Given the description of an element on the screen output the (x, y) to click on. 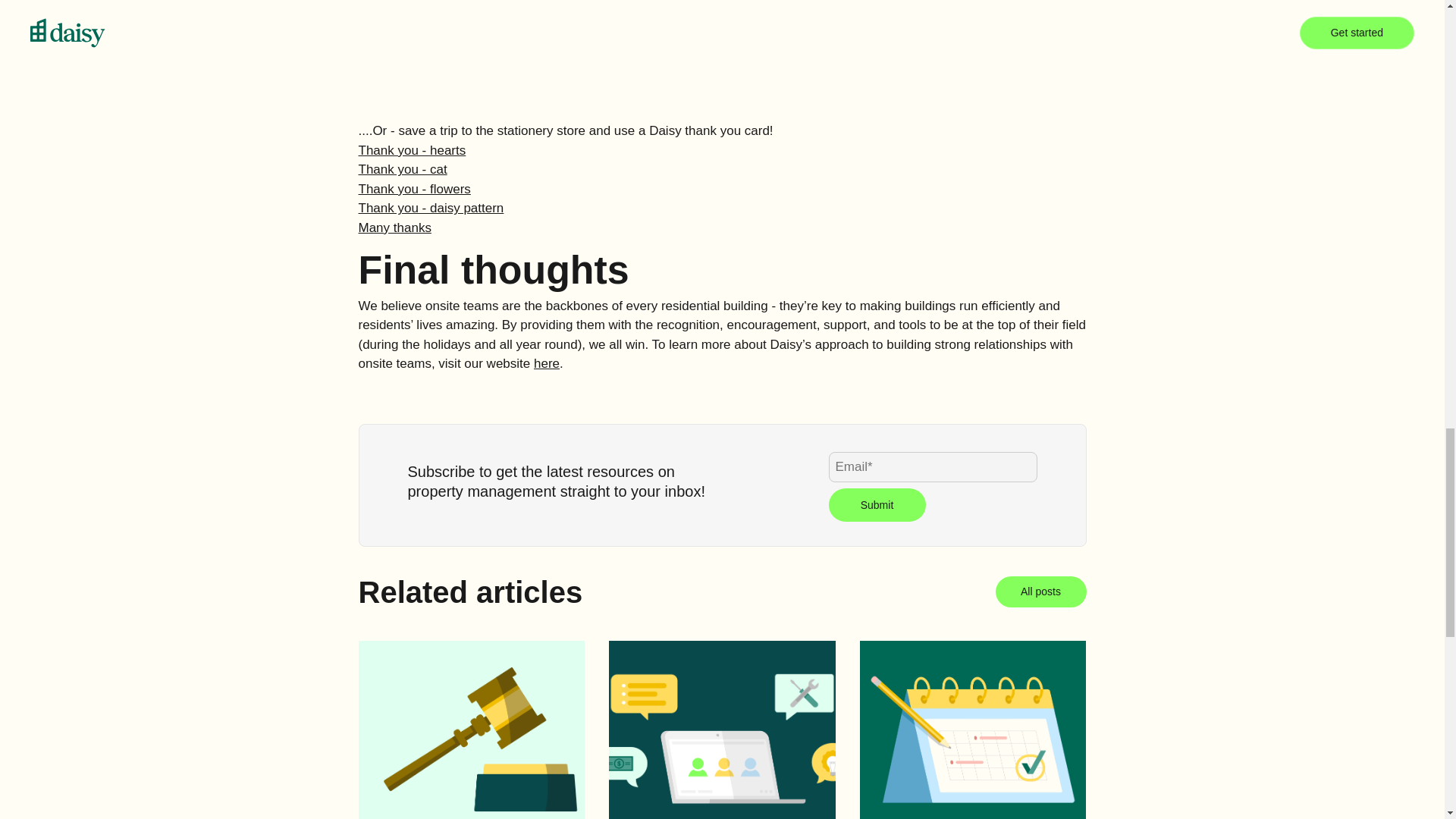
All posts (1040, 591)
here (546, 363)
Thank you - flowers (414, 188)
Submit (876, 504)
Thank you - cat (402, 169)
Thank you - hearts (411, 150)
Submit (876, 504)
Many thanks (394, 227)
Thank you - daisy pattern (430, 207)
